Given the description of an element on the screen output the (x, y) to click on. 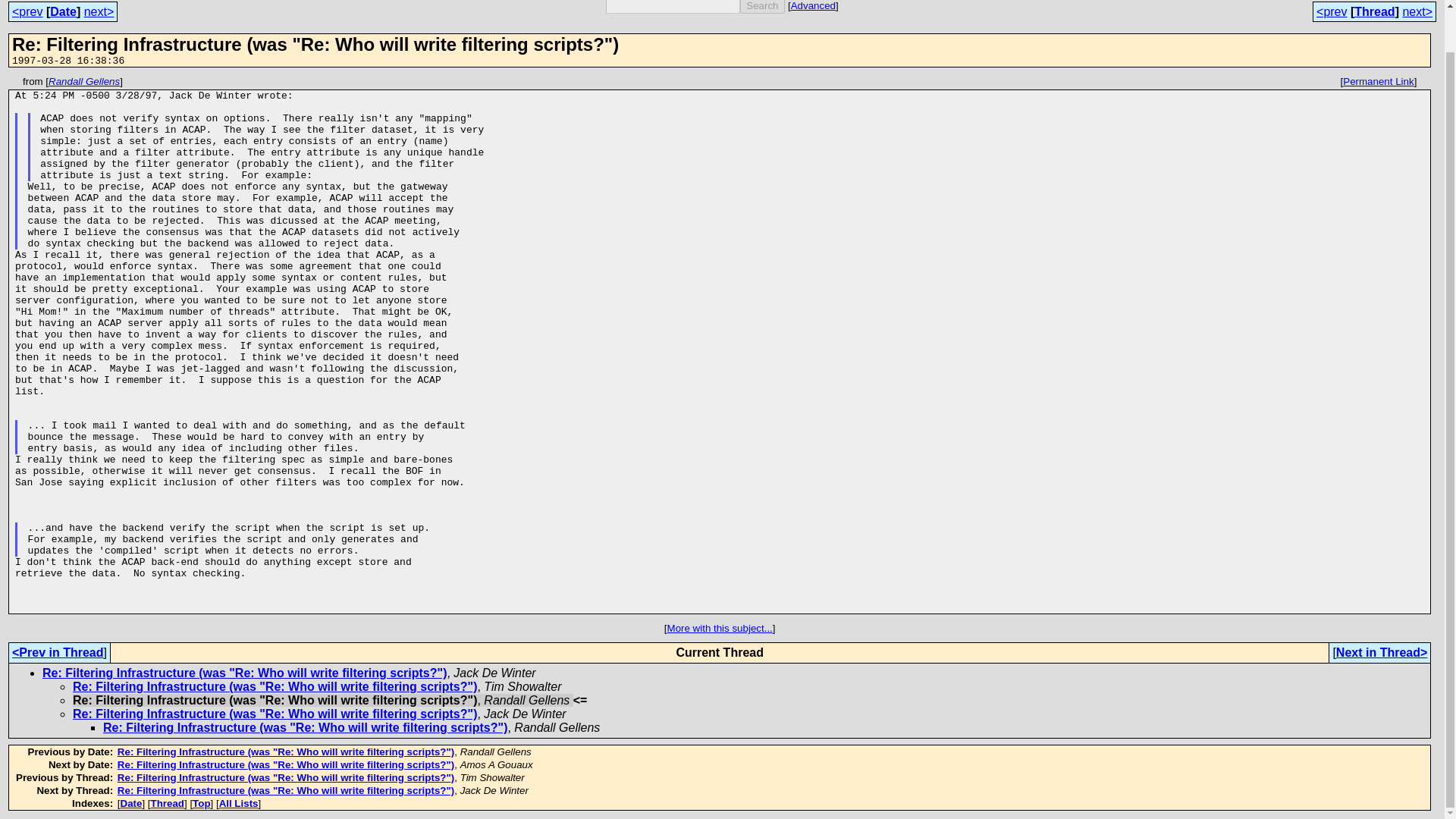
Permanent Link (1377, 81)
Date (63, 11)
Top (200, 803)
Search (761, 6)
Search (761, 6)
Thread (167, 803)
Randall Gellens (83, 81)
All Lists (239, 803)
Advanced (812, 5)
Thread (1374, 11)
